Given the description of an element on the screen output the (x, y) to click on. 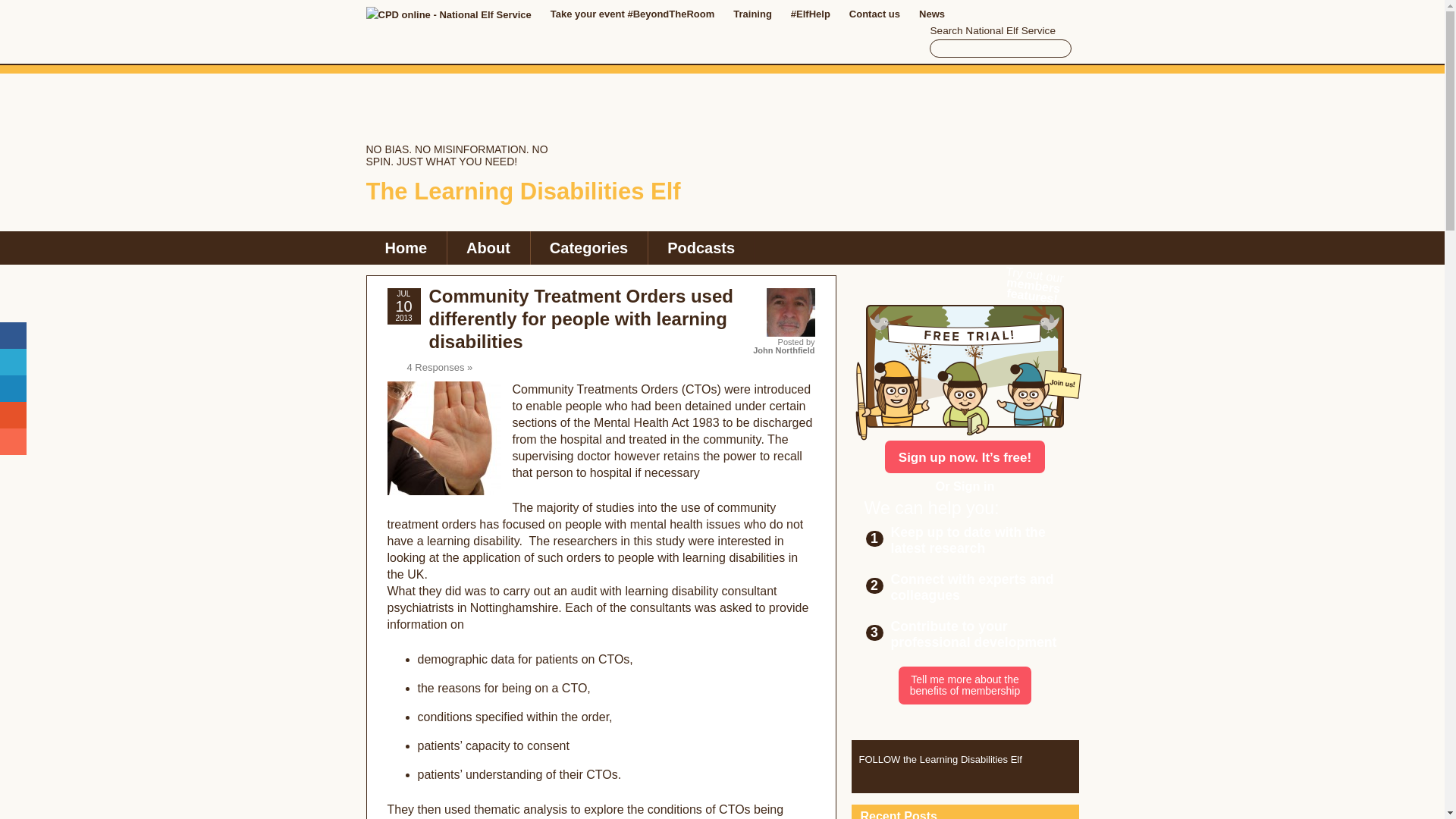
Home (405, 247)
Tweet this on Twitter (13, 361)
Share on Facebook (13, 335)
About (487, 247)
Search (1057, 48)
Contact us (873, 13)
Training (752, 13)
Search (1057, 48)
News (931, 13)
Categories (588, 247)
Share via sharethis (13, 441)
Share on LinkedIn (13, 388)
Posts by John Northfield (782, 349)
